Given the description of an element on the screen output the (x, y) to click on. 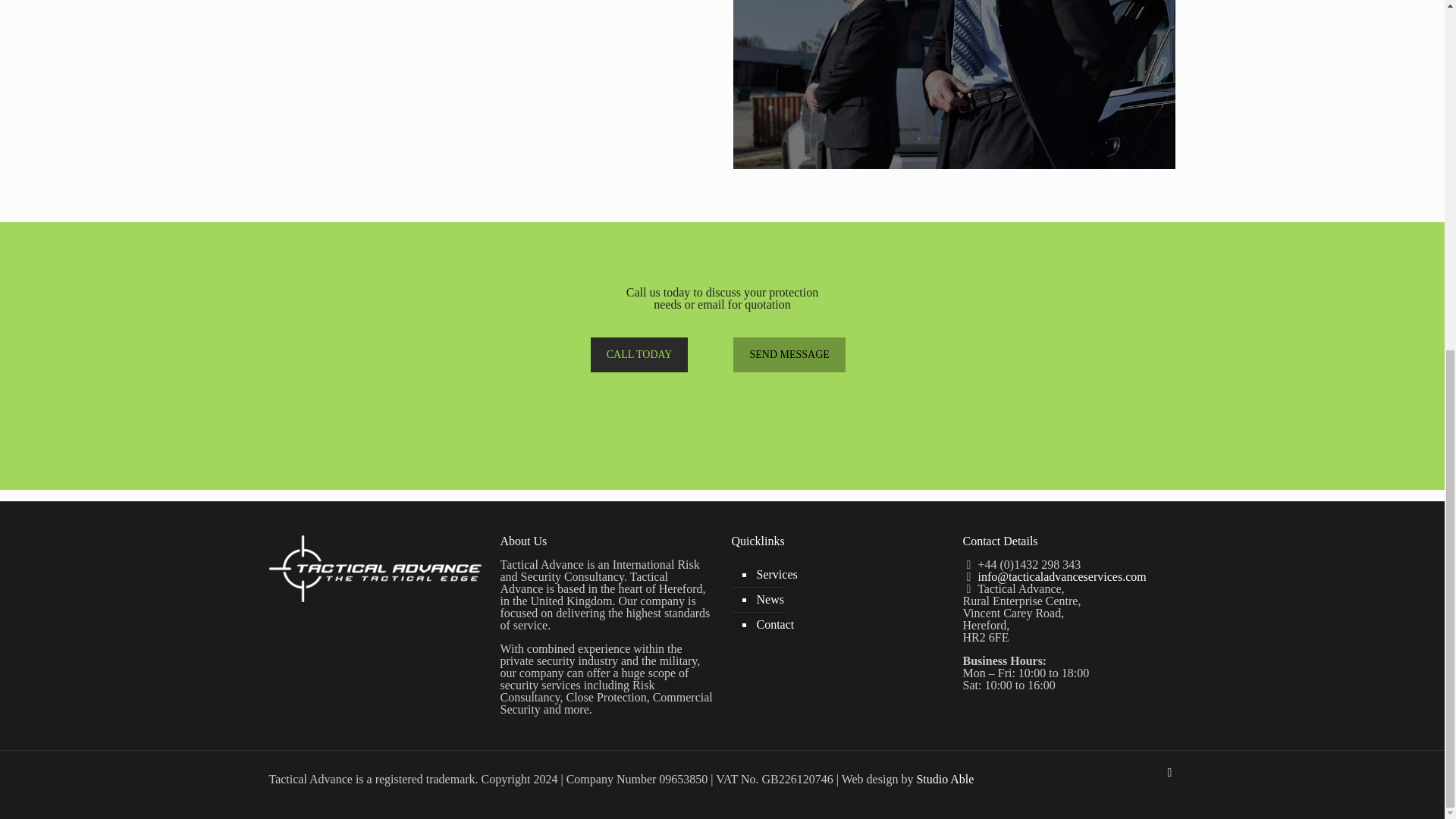
News (845, 600)
Services (845, 575)
CALL TODAY (639, 354)
Contact (845, 625)
SEND MESSAGE (788, 354)
